Given the description of an element on the screen output the (x, y) to click on. 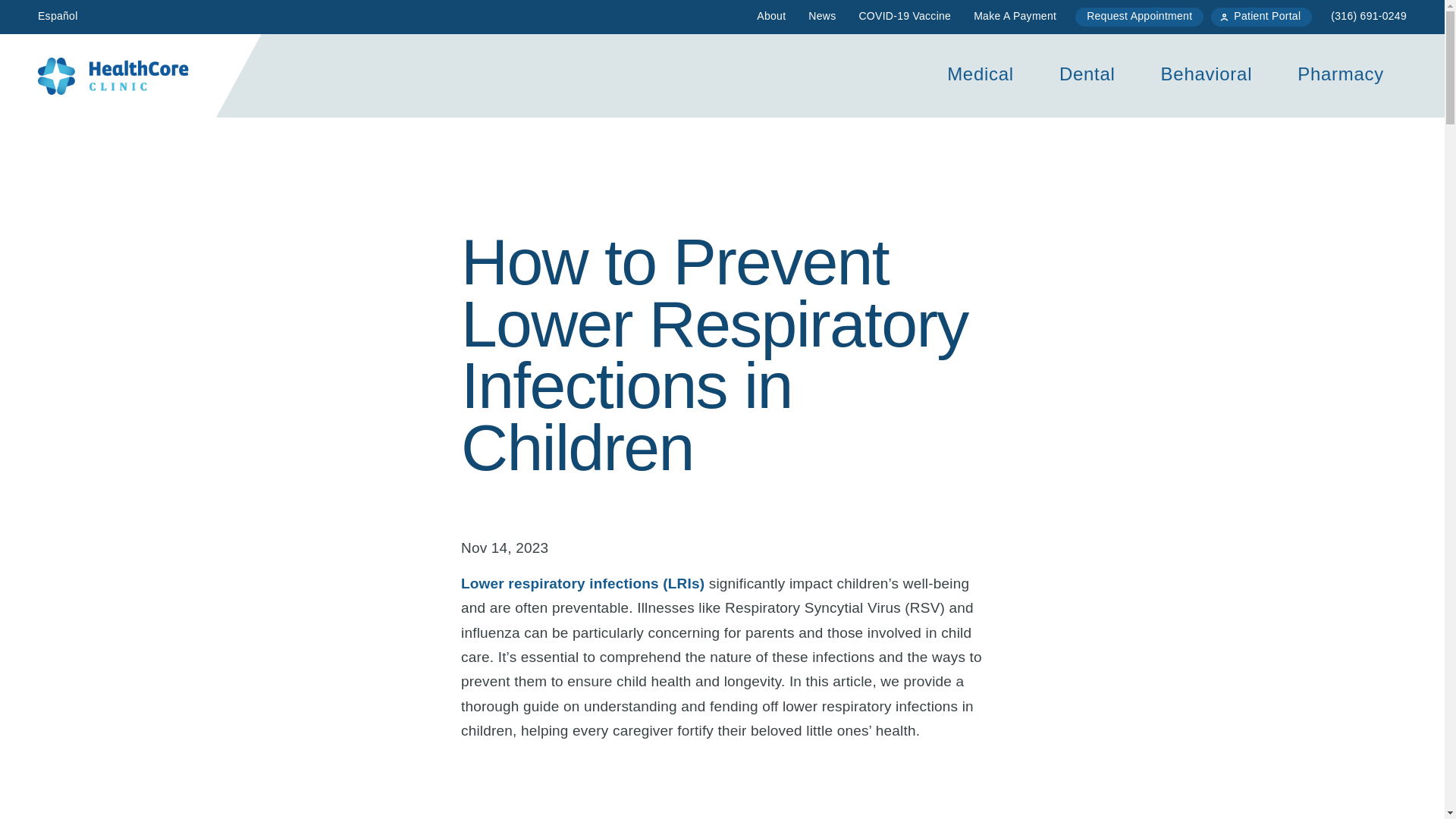
HealthCore Clinic (113, 75)
COVID-19 Vaccine (904, 16)
Patient Portal (1261, 16)
About (770, 16)
Make A Payment (1014, 16)
Behavioral (1206, 75)
News (821, 16)
Pharmacy (1340, 75)
Medical (980, 75)
Request Appointment (1139, 16)
